Given the description of an element on the screen output the (x, y) to click on. 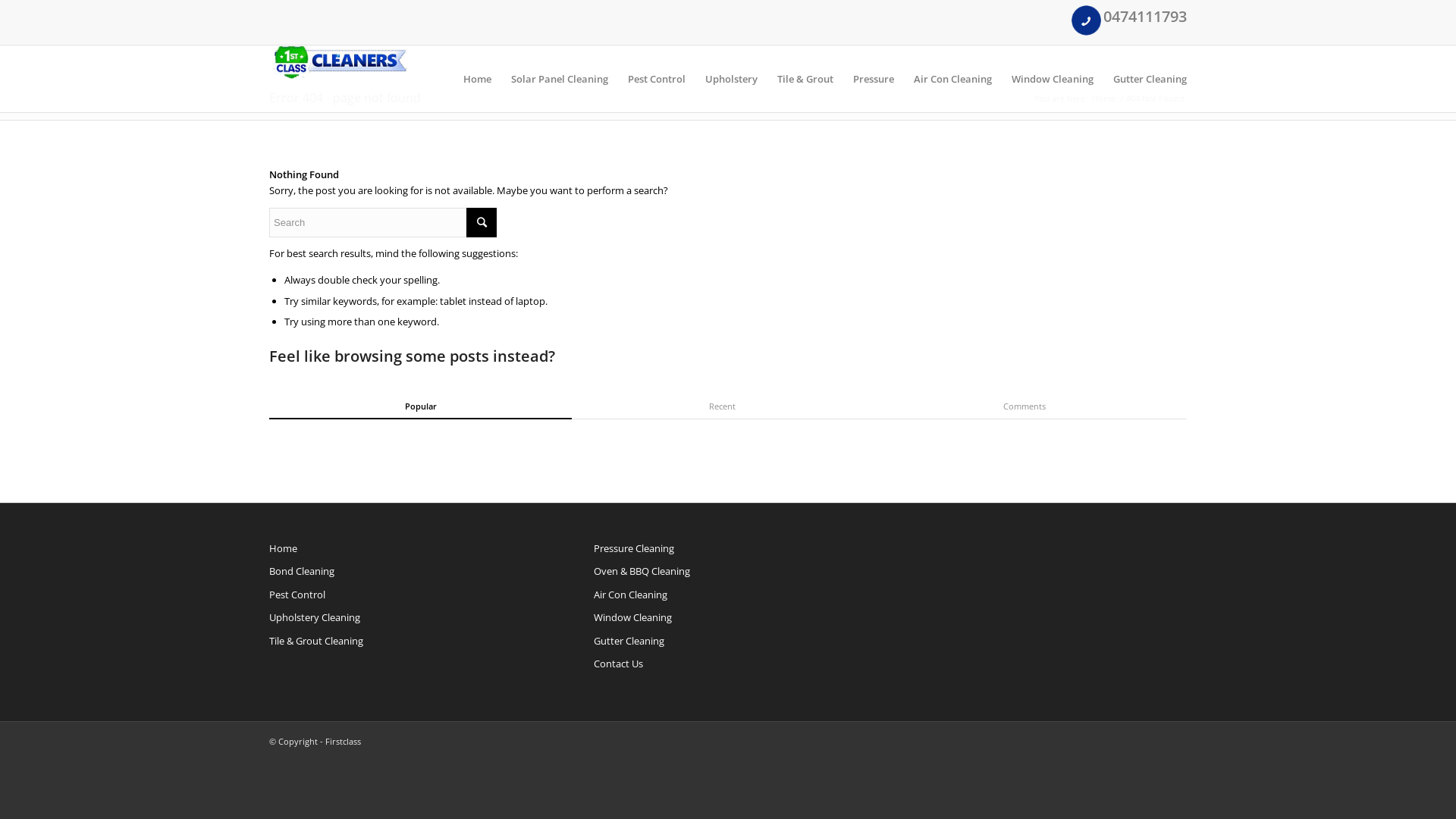
Gutter Cleaning Element type: text (727, 641)
Solar Panel Cleaning Element type: text (559, 78)
0474111793 Element type: text (1144, 16)
Home Element type: text (1103, 97)
Upholstery Element type: text (731, 78)
Tile & Grout Element type: text (805, 78)
Air Con Cleaning Element type: text (952, 78)
Pressure Element type: text (873, 78)
Window Cleaning Element type: text (727, 617)
Pest Control Element type: text (403, 594)
Phone Element type: hover (1086, 19)
Upholstery Cleaning Element type: text (403, 617)
Home Element type: text (477, 78)
Tile & Grout Cleaning Element type: text (403, 641)
Oven & BBQ Cleaning Element type: text (727, 571)
Window Cleaning Element type: text (1052, 78)
Pest Control Element type: text (656, 78)
Air Con Cleaning Element type: text (727, 594)
Pressure Cleaning Element type: text (727, 548)
Contact Us Element type: text (727, 663)
Gutter Cleaning Element type: text (1144, 78)
Home Element type: text (403, 548)
Bond Cleaning Element type: text (403, 571)
